Given the description of an element on the screen output the (x, y) to click on. 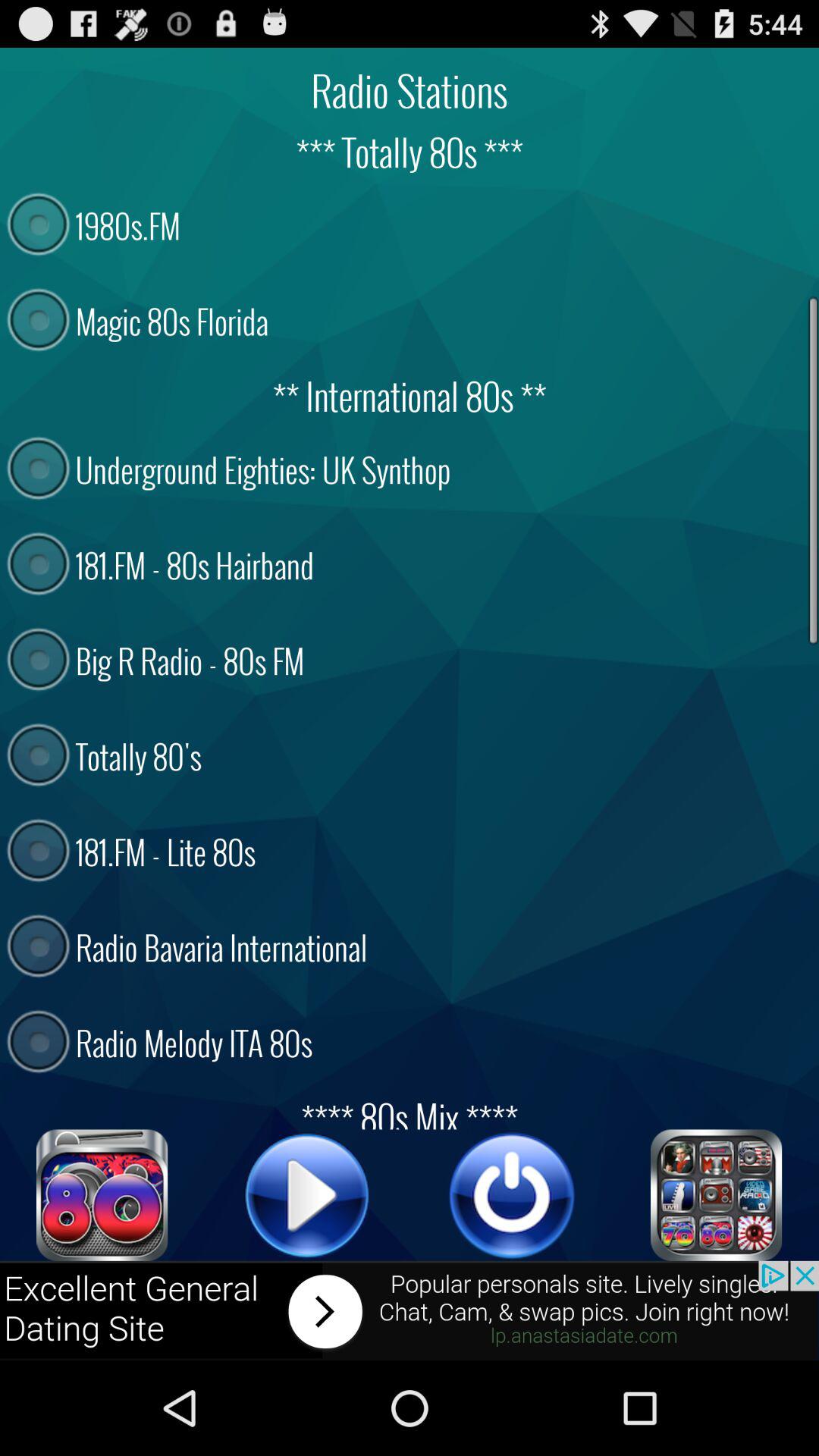
go to top 80s (102, 1194)
